Given the description of an element on the screen output the (x, y) to click on. 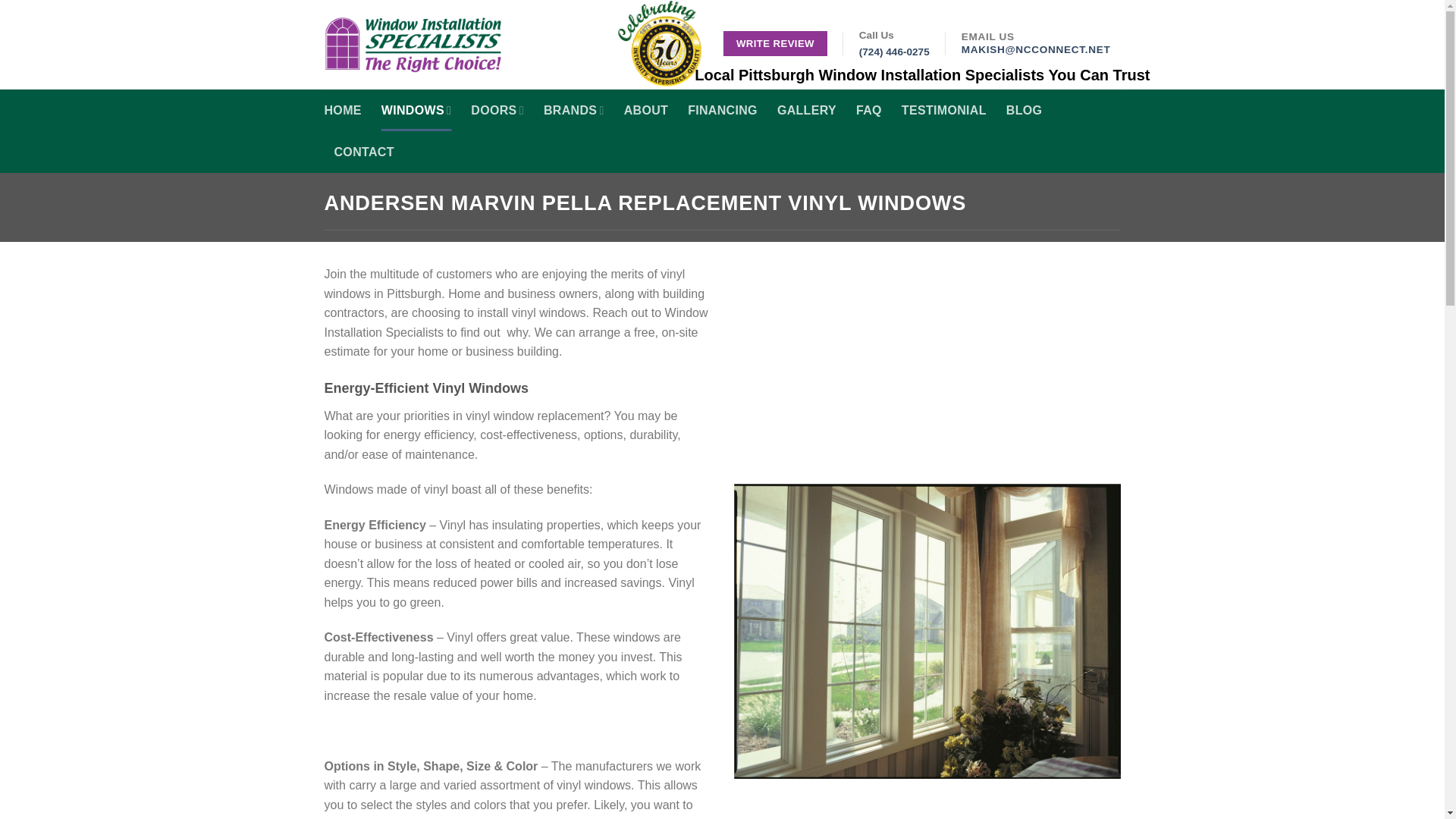
GALLERY (806, 110)
WINDOWS (416, 110)
ABOUT (646, 110)
WRITE REVIEW (775, 43)
HOME (342, 110)
TESTIMONIAL (944, 110)
CONTACT (363, 151)
DOORS (497, 110)
BRANDS (573, 110)
FINANCING (722, 110)
